Given the description of an element on the screen output the (x, y) to click on. 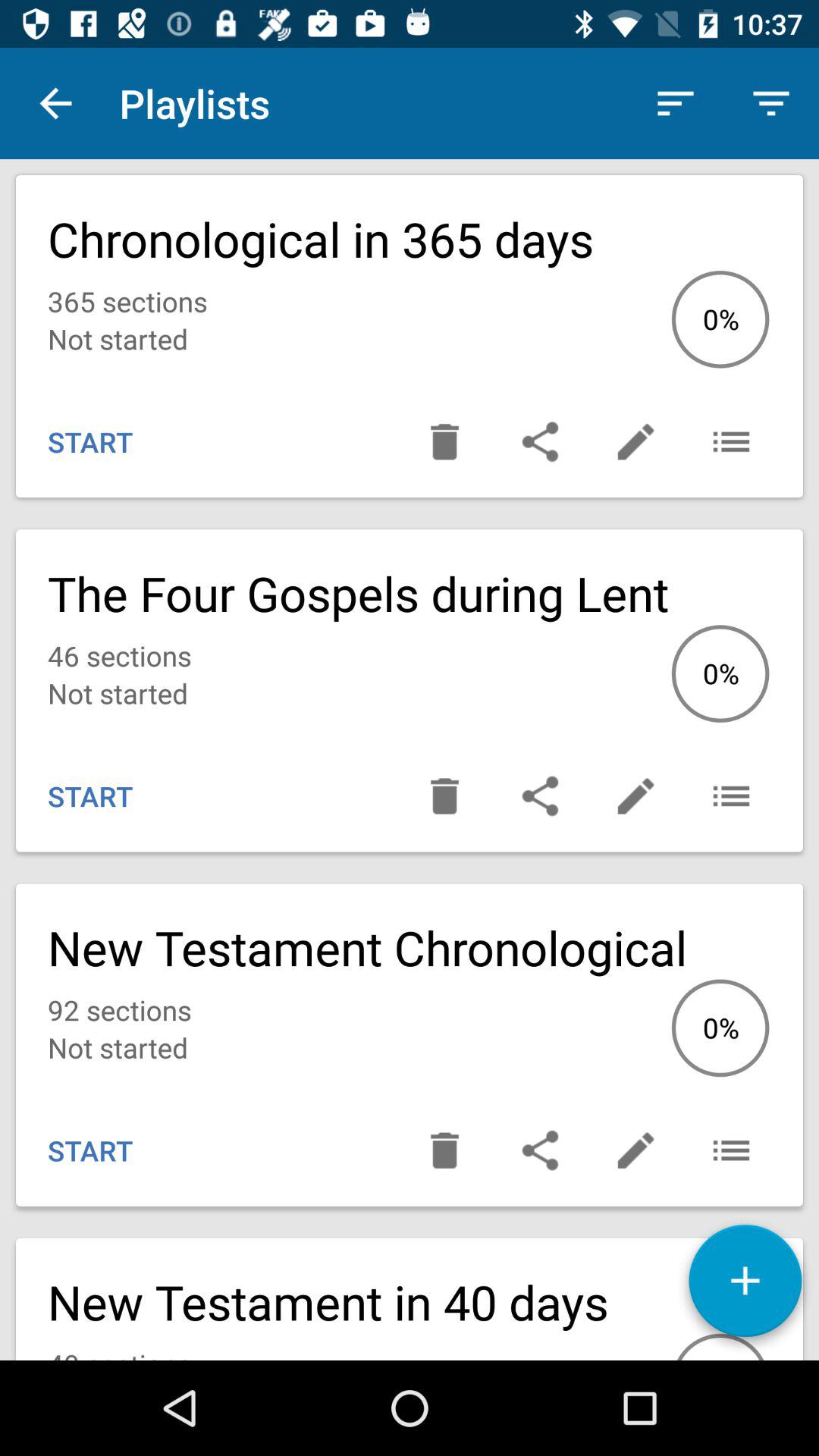
create playlist (745, 1286)
